Given the description of an element on the screen output the (x, y) to click on. 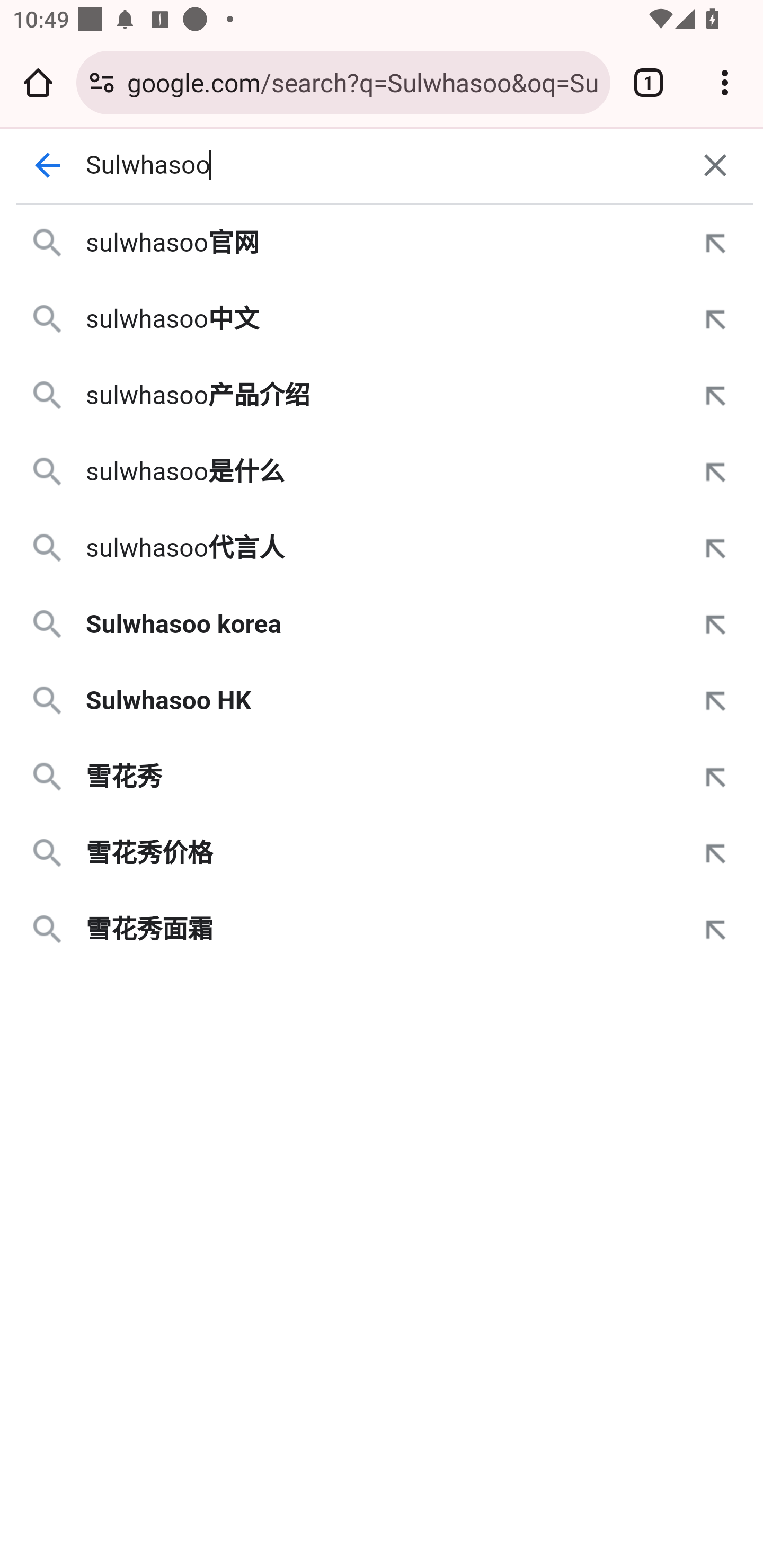
Open the home page (38, 82)
Connection is secure (101, 82)
Switch or close tabs (648, 82)
Customize and control Google Chrome (724, 82)
返回 (47, 165)
清除搜索 (715, 165)
Sulwhasoo (381, 165)
财经 (709, 333)
